Given the description of an element on the screen output the (x, y) to click on. 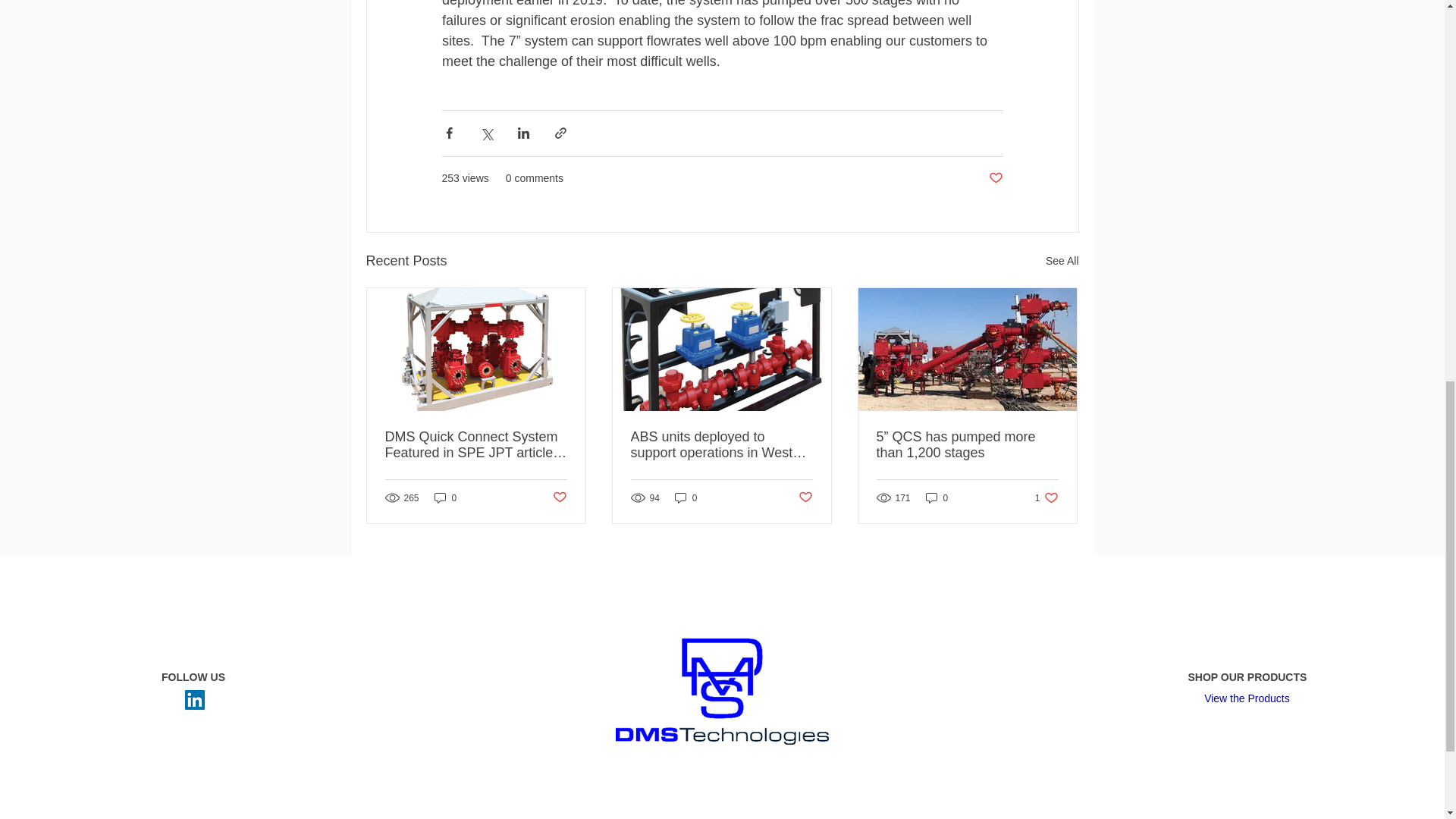
View the Products (1246, 699)
ABS units deployed to support operations in West Texas (721, 445)
Post not marked as liked (995, 178)
Post not marked as liked (1046, 497)
0 (558, 497)
See All (937, 497)
0 (1061, 260)
Post not marked as liked (685, 497)
